Given the description of an element on the screen output the (x, y) to click on. 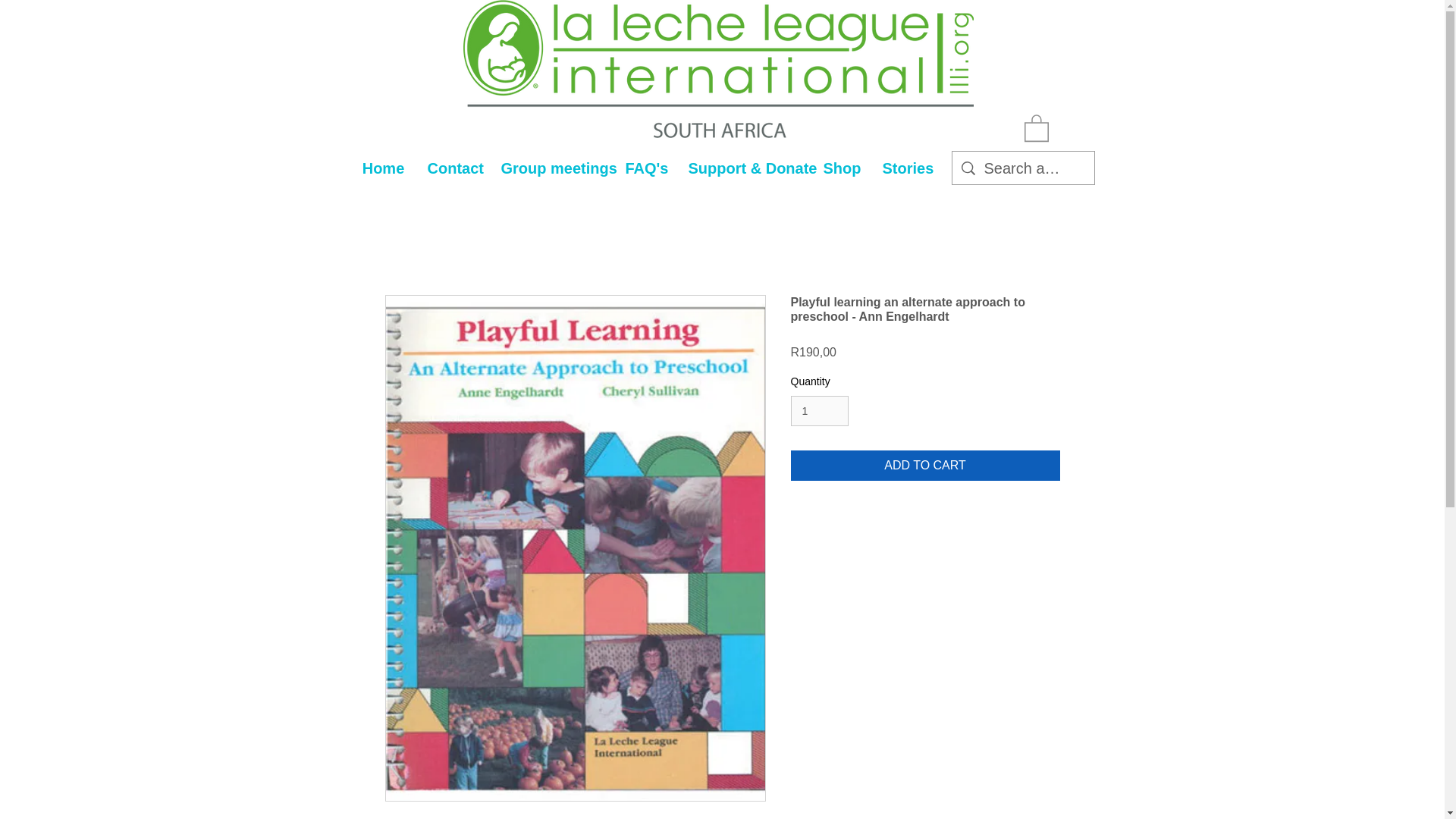
FAQ's (645, 168)
Shop (840, 168)
Home (382, 168)
Group meetings (551, 168)
Contact (451, 168)
1 (818, 410)
Stories (904, 168)
ADD TO CART (924, 465)
